Given the description of an element on the screen output the (x, y) to click on. 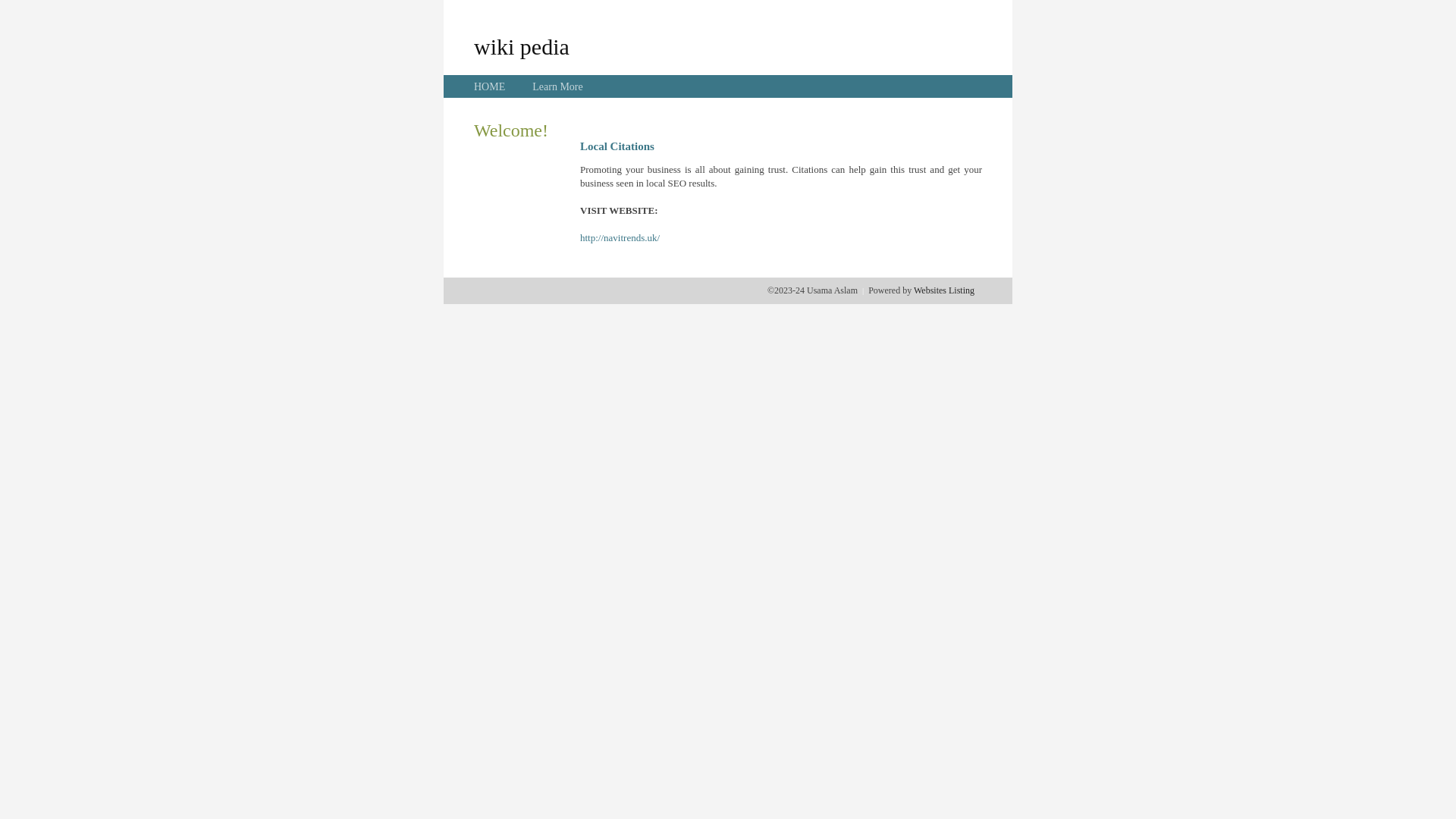
Learn More Element type: text (557, 86)
wiki pedia Element type: text (521, 46)
HOME Element type: text (489, 86)
Websites Listing Element type: text (943, 290)
http://navitrends.uk/ Element type: text (619, 237)
